Given the description of an element on the screen output the (x, y) to click on. 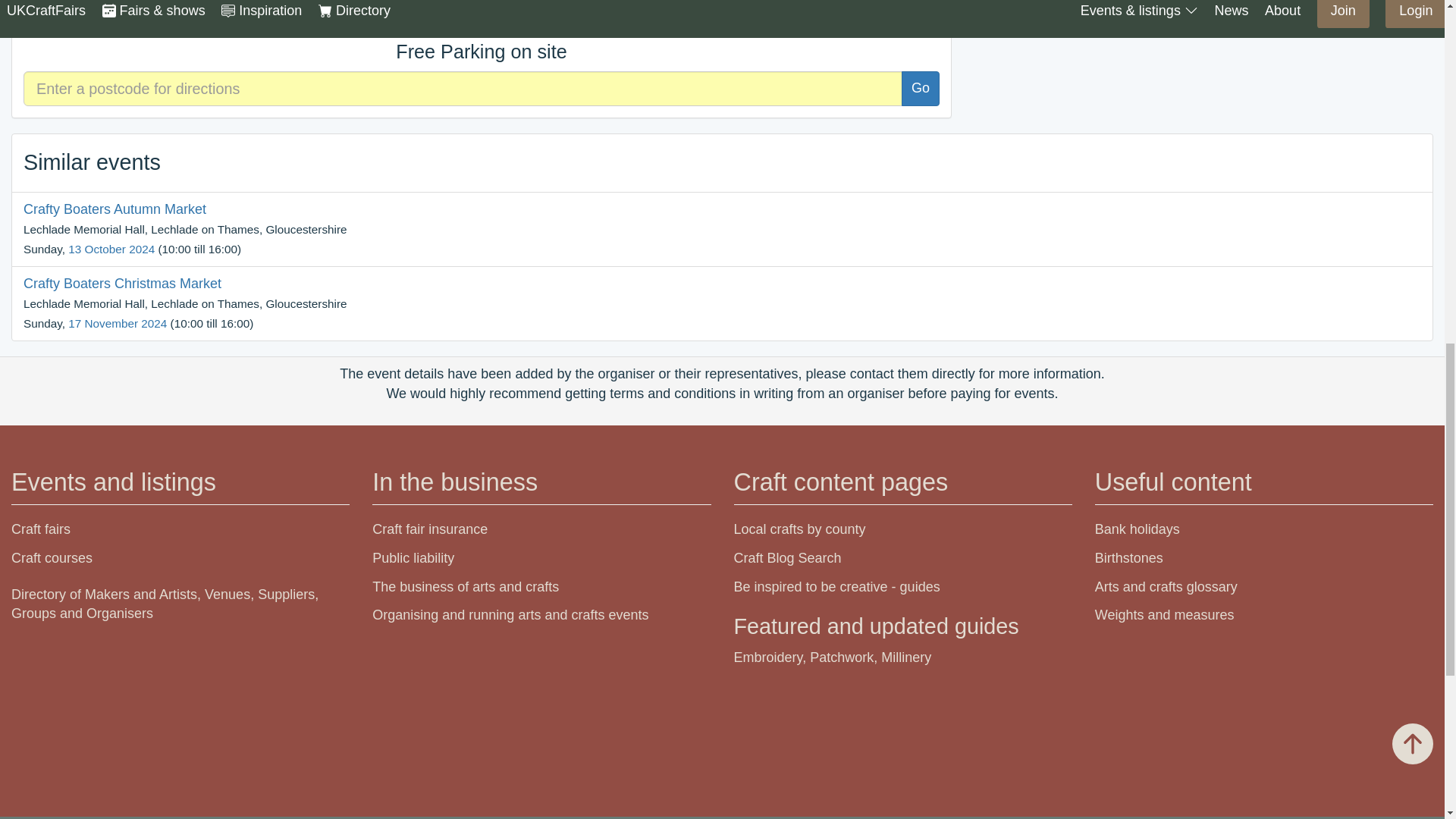
Lechlade on Thames (406, 17)
Go (920, 88)
Gloucestershire (598, 17)
